Given the description of an element on the screen output the (x, y) to click on. 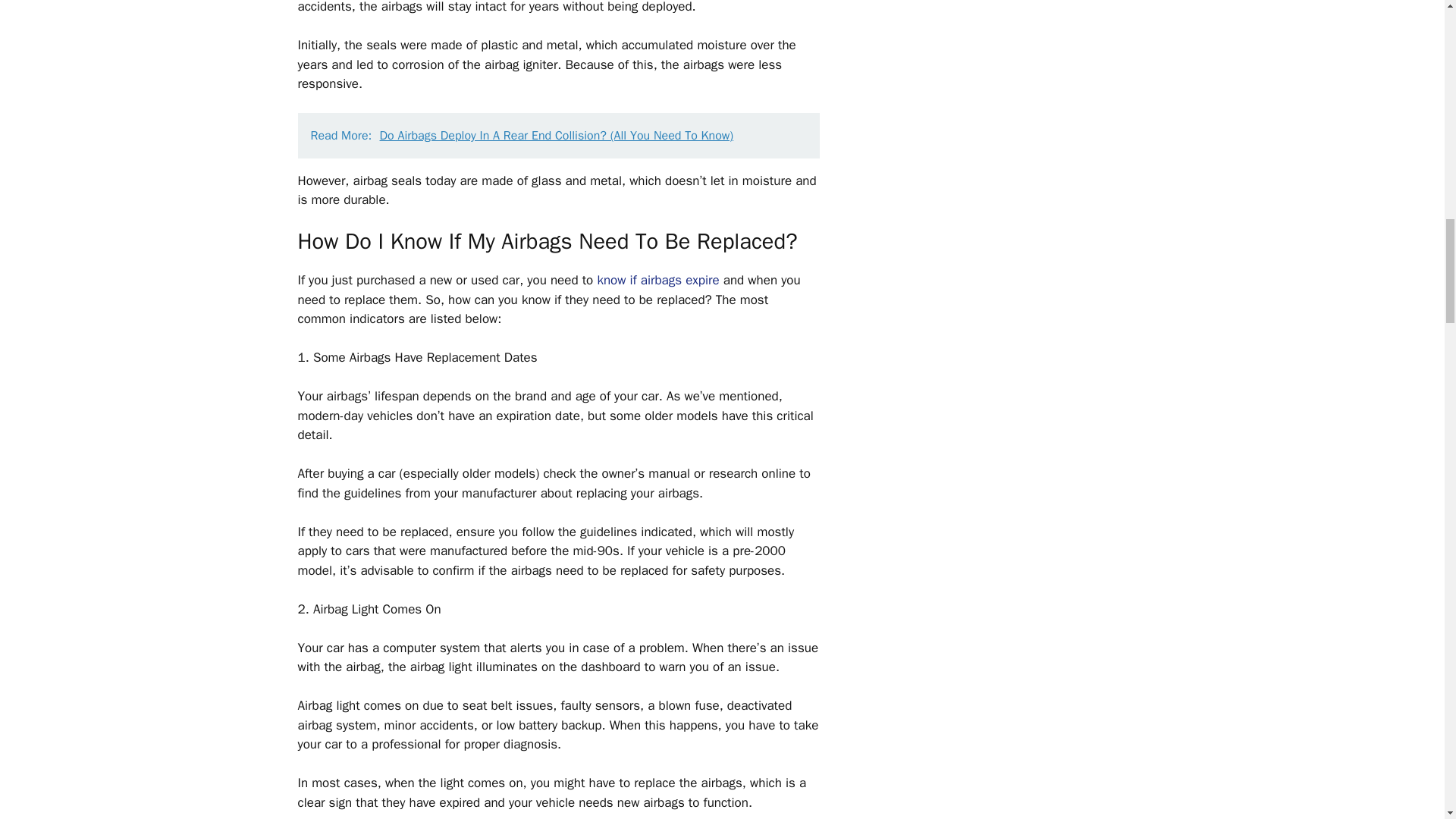
know if airbags expire (657, 279)
